Given the description of an element on the screen output the (x, y) to click on. 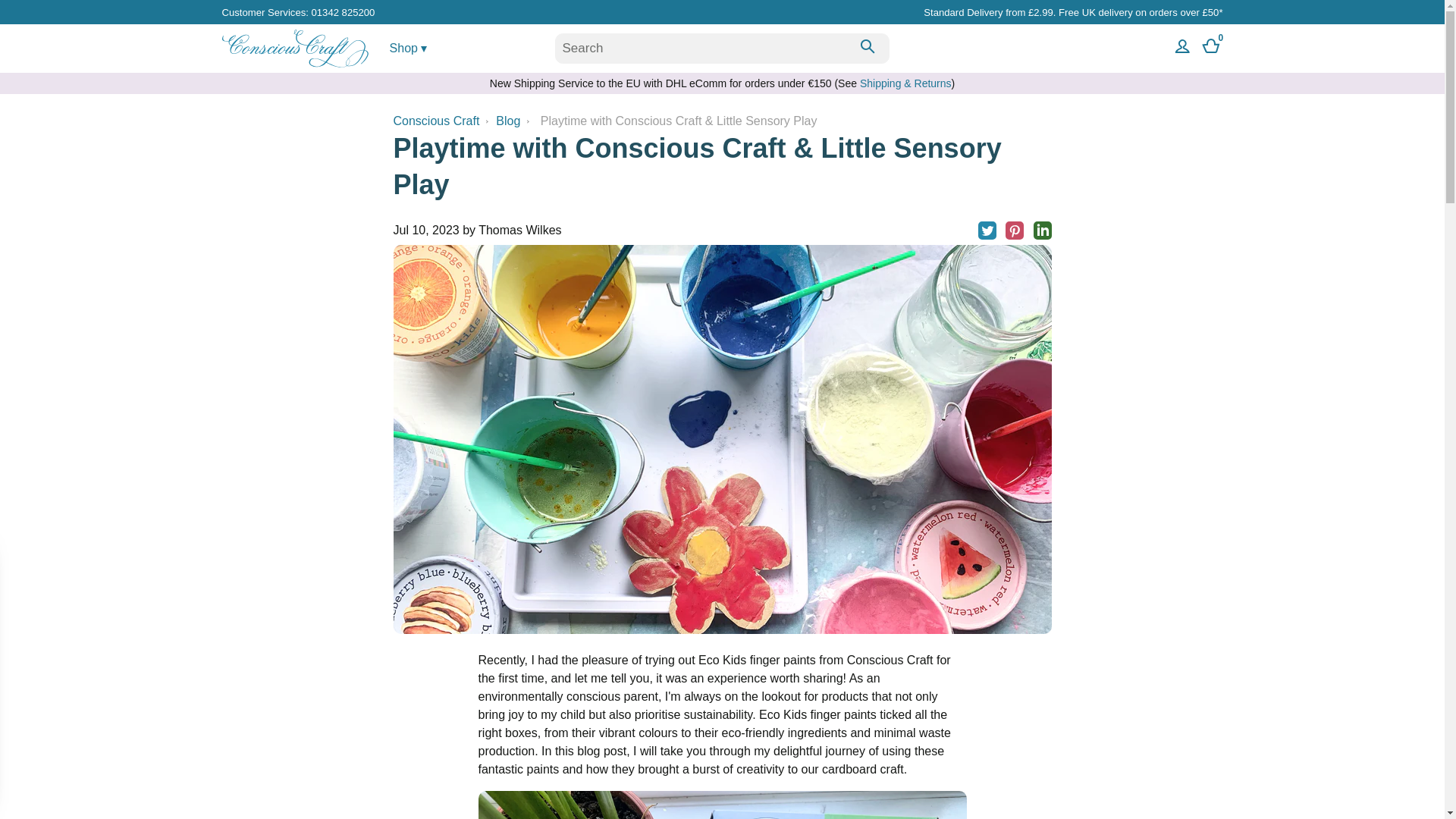
Conscious Craft (294, 62)
Shop (408, 48)
Log in (1180, 48)
Customer Services: 01342 825200 (297, 12)
Submit (866, 48)
